Given the description of an element on the screen output the (x, y) to click on. 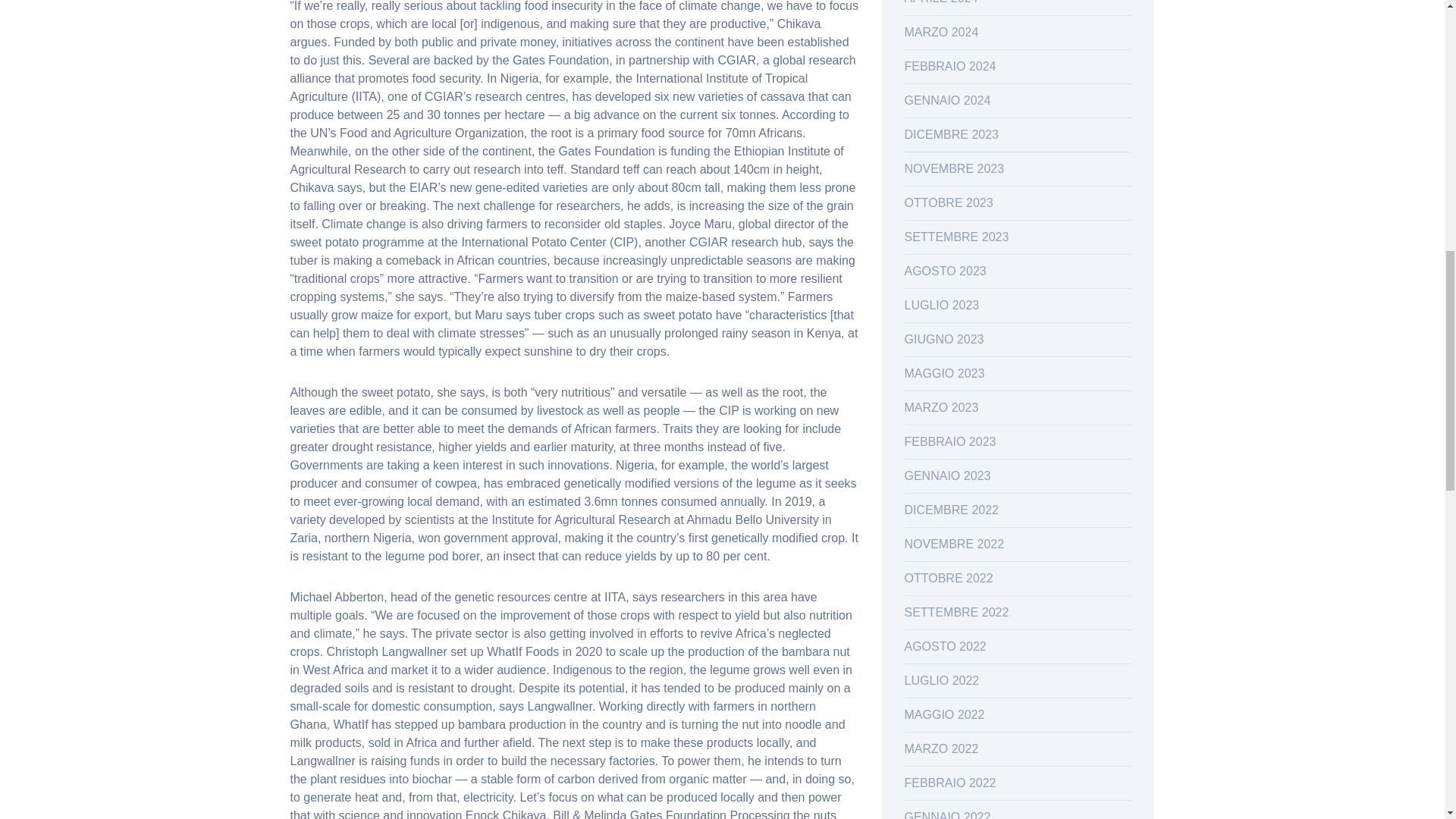
MARZO 2024 (941, 31)
FEBBRAIO 2024 (949, 65)
GENNAIO 2024 (947, 100)
APRILE 2024 (940, 2)
